Given the description of an element on the screen output the (x, y) to click on. 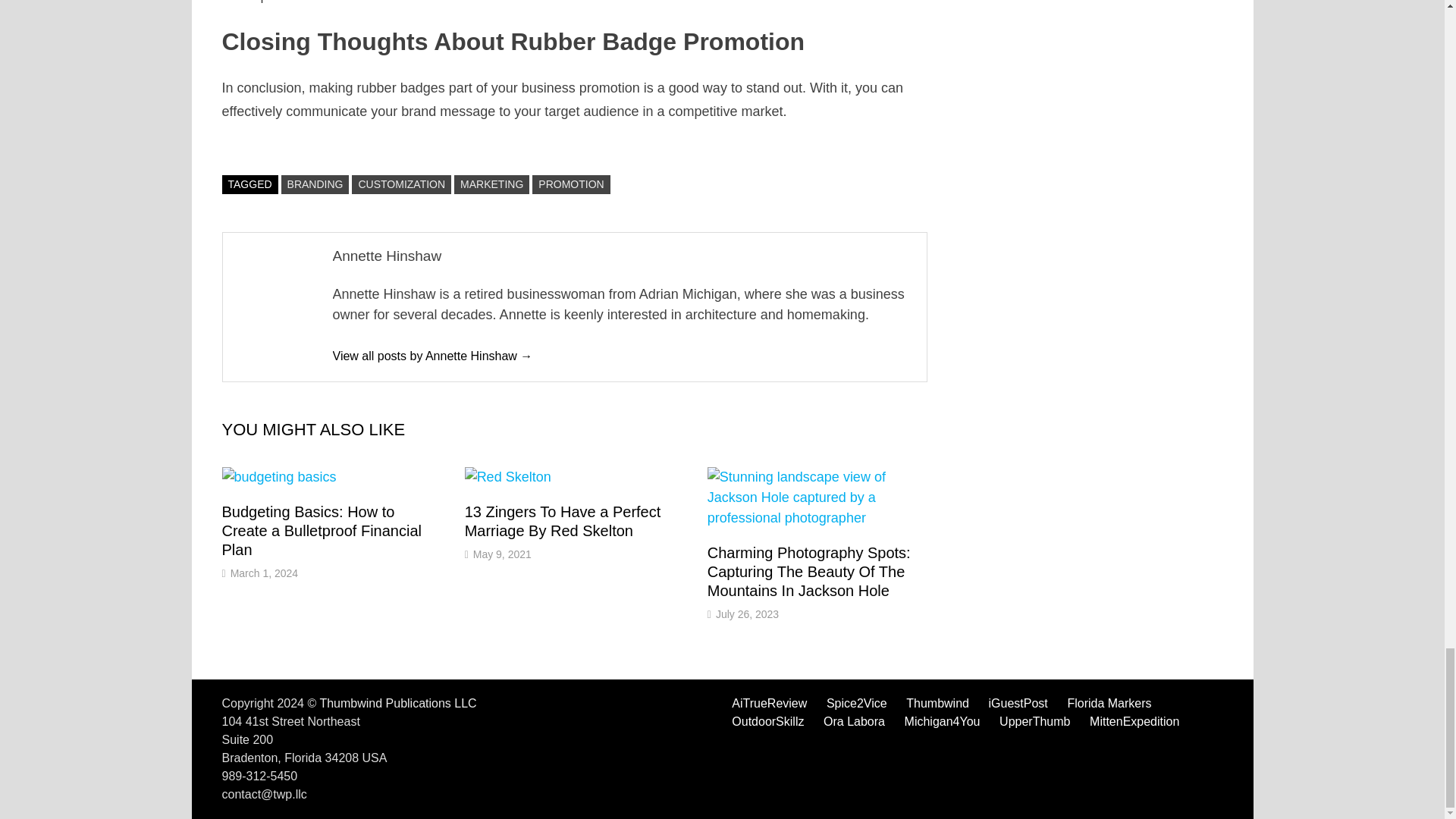
Budgeting Basics: How to Create a Bulletproof Financial Plan (320, 530)
Annette Hinshaw (431, 355)
13 Zingers To Have a Perfect Marriage By Red Skelton (562, 520)
